Given the description of an element on the screen output the (x, y) to click on. 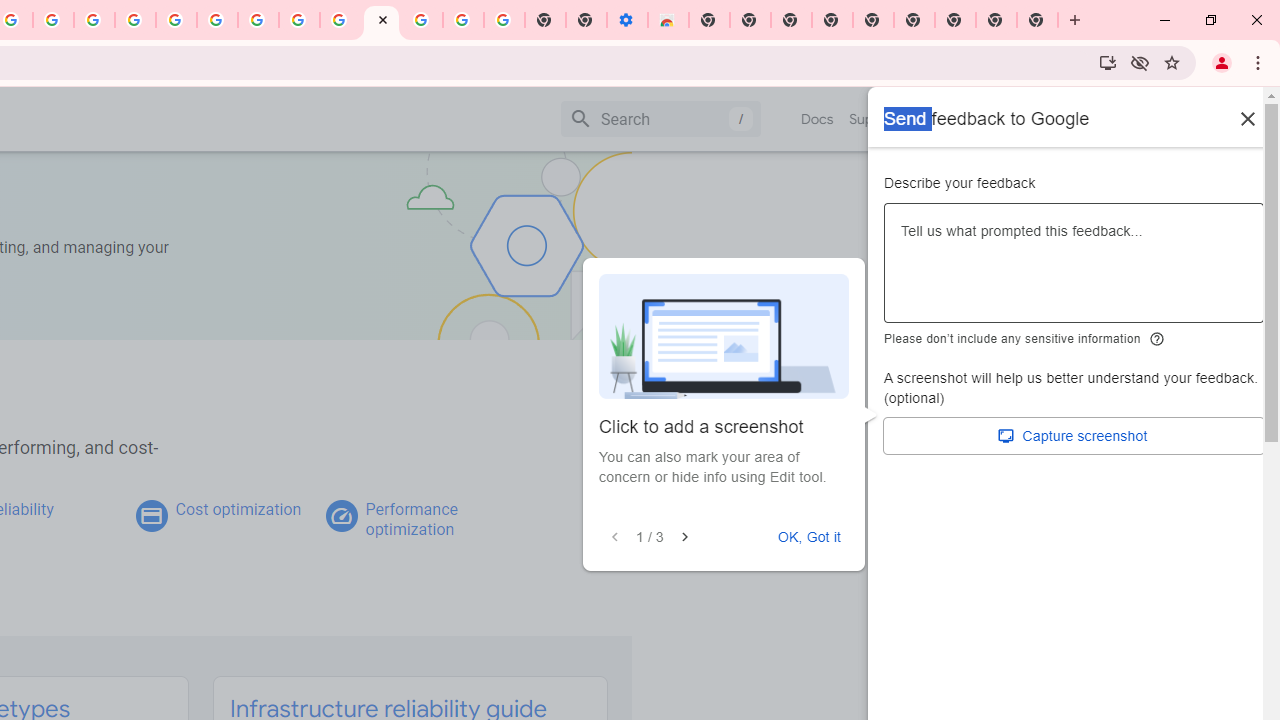
New Tab (955, 20)
Google Account Help (462, 20)
Settings - Accessibility (626, 20)
Sign in - Google Accounts (421, 20)
New Tab (708, 20)
OK, Got it (809, 537)
Previous (615, 537)
Turn cookies on or off - Computer - Google Account Help (503, 20)
